Given the description of an element on the screen output the (x, y) to click on. 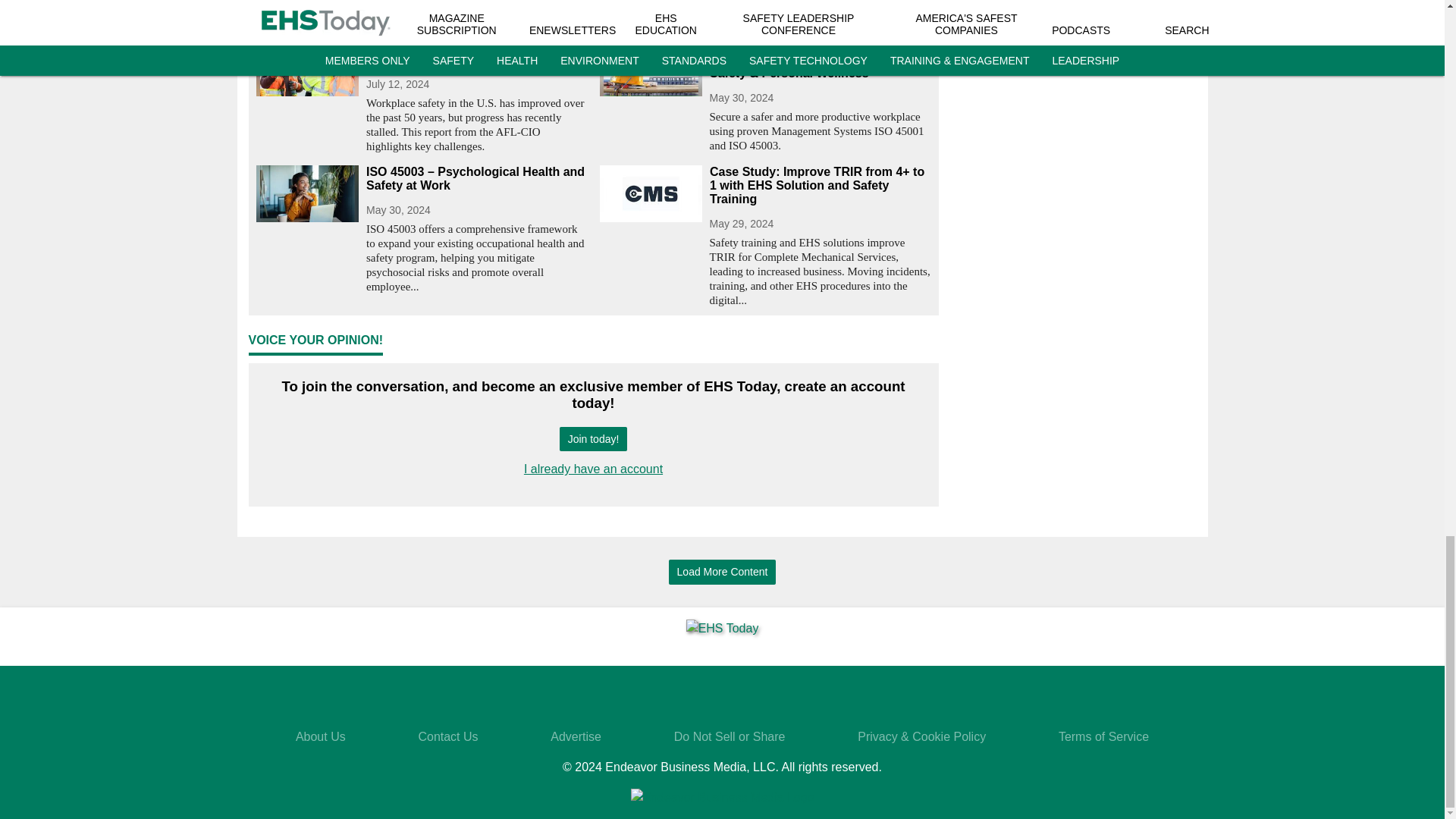
10 Facts About the State of Workplace Safety in the U.S. (476, 52)
I already have an account (593, 468)
Join today! (593, 439)
